Given the description of an element on the screen output the (x, y) to click on. 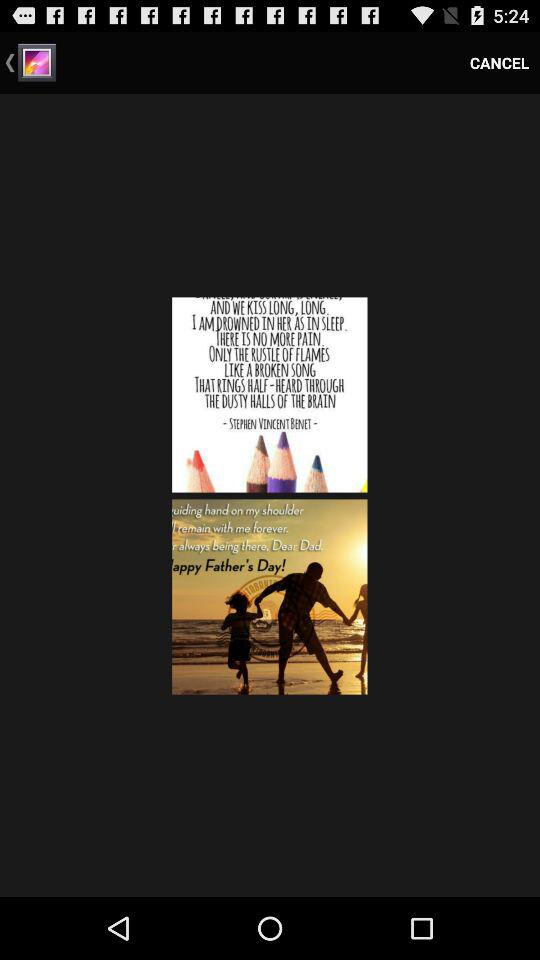
launch cancel (499, 62)
